Given the description of an element on the screen output the (x, y) to click on. 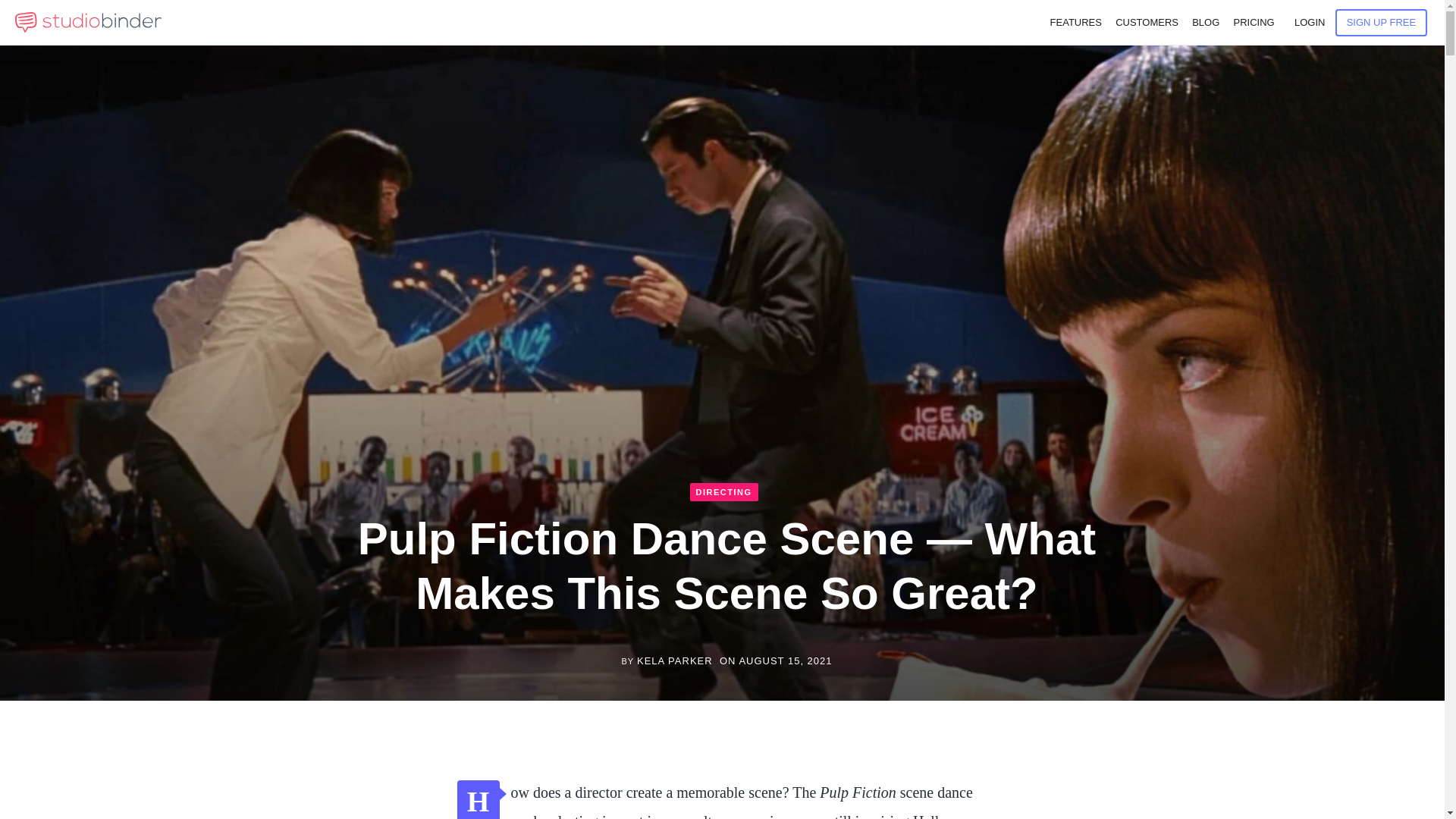
CUSTOMERS (1146, 22)
DIRECTING (724, 492)
SIGN UP FREE (1381, 22)
LOGIN (1309, 22)
FEATURES (1075, 22)
ON AUGUST 15, 2021 (775, 660)
BLOG (1206, 22)
KELA PARKER (675, 660)
Blog (1206, 22)
PRICING (1253, 22)
